Given the description of an element on the screen output the (x, y) to click on. 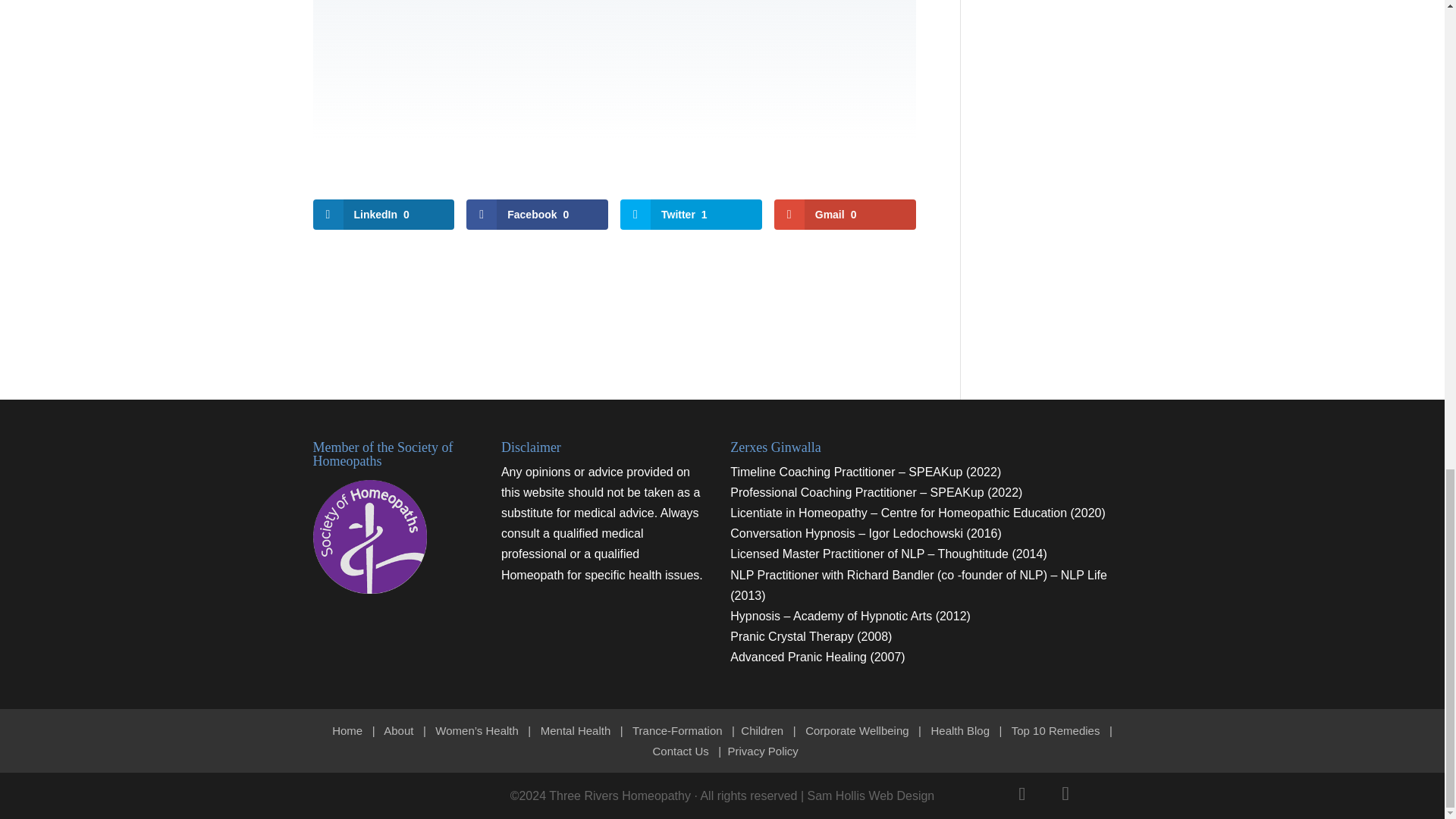
society-of-homeopaths-logo (369, 536)
Follow on Facebook (1022, 793)
Follow on Instagram (1065, 793)
